Given the description of an element on the screen output the (x, y) to click on. 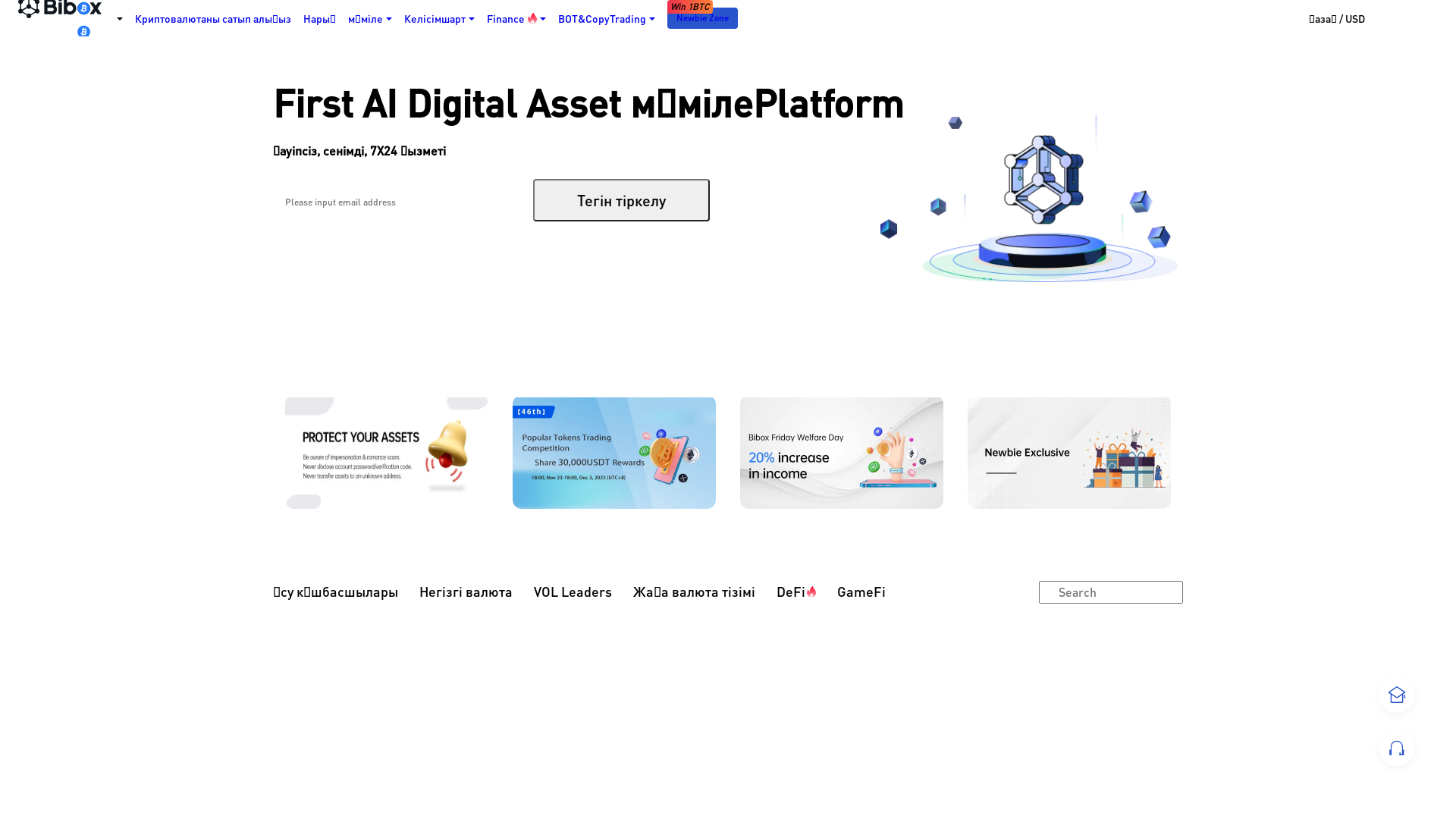
Newbie Zone Element type: text (702, 18)
BOT&CopyTrading Element type: text (606, 18)
Finance Element type: text (516, 18)
